Given the description of an element on the screen output the (x, y) to click on. 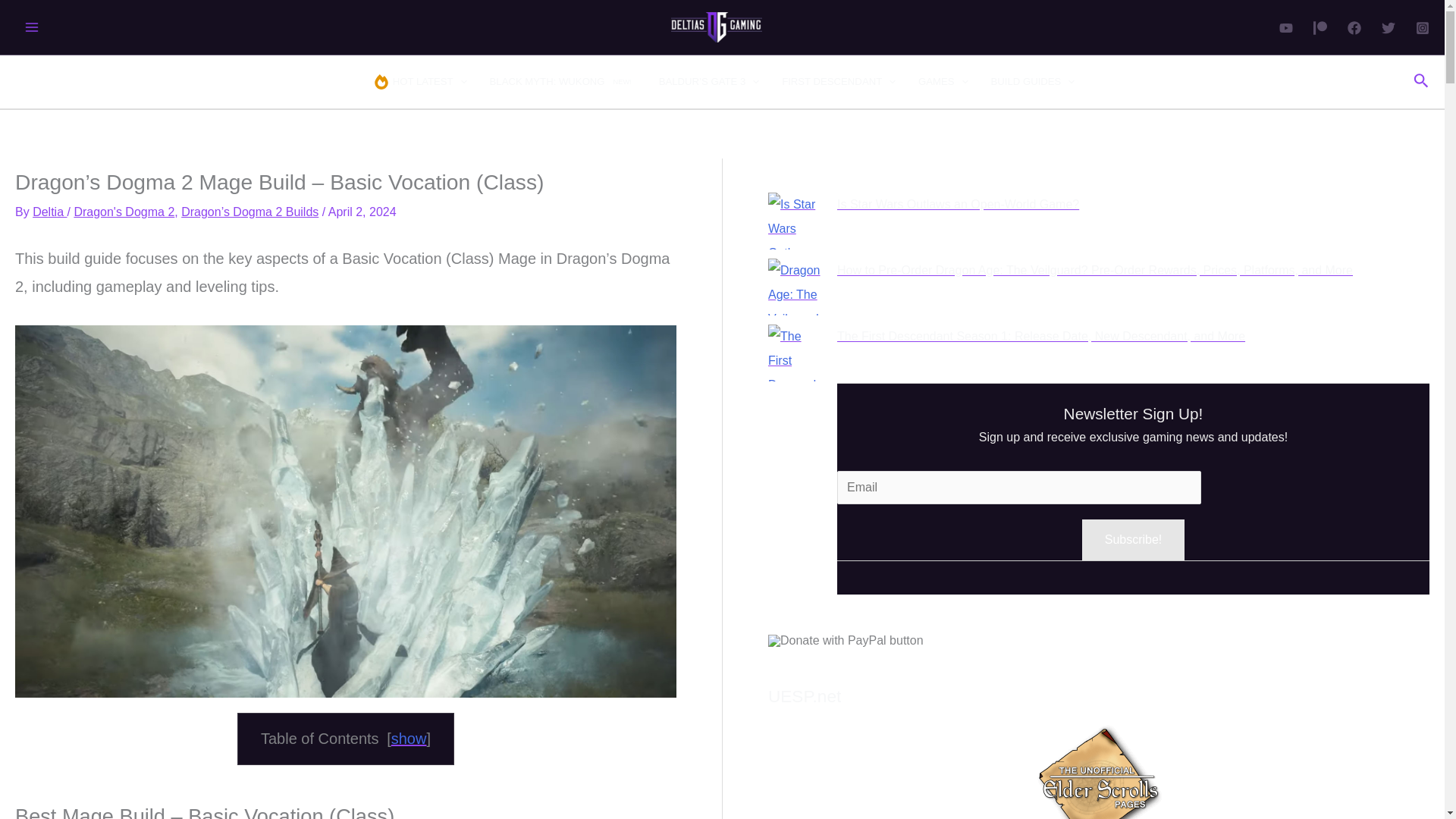
Subscribe! (563, 81)
View all posts by Deltia (1133, 539)
PayPal - The safer, easier way to pay online! (49, 211)
HOT LATEST (845, 640)
